Given the description of an element on the screen output the (x, y) to click on. 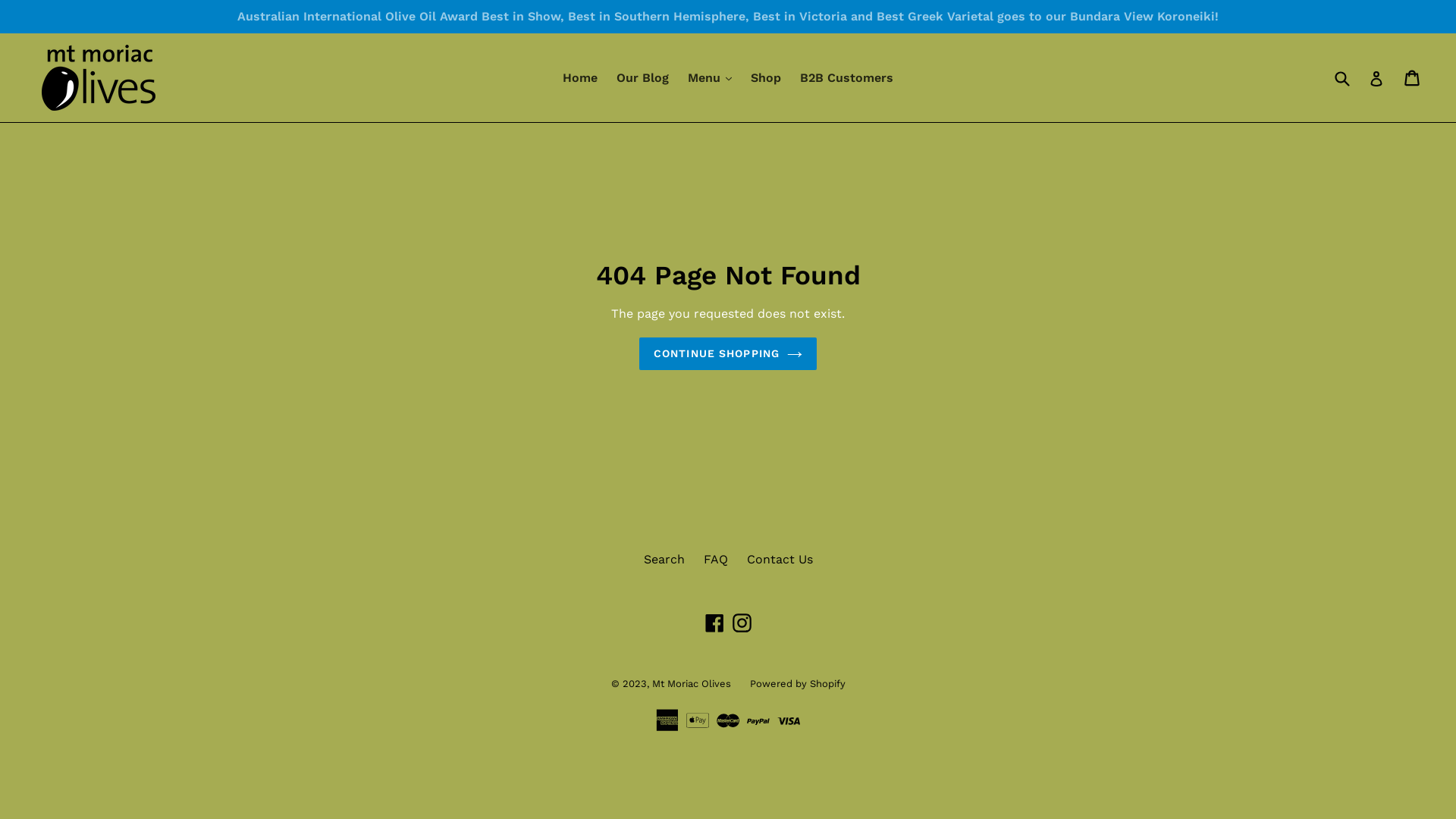
Instagram Element type: text (741, 622)
CONTINUE SHOPPING Element type: text (727, 353)
Mt Moriac Olives Element type: text (691, 683)
Our Blog Element type: text (642, 77)
FAQ Element type: text (715, 559)
Search Element type: text (663, 559)
Contact Us Element type: text (779, 559)
Cart
Cart Element type: text (1412, 77)
Home Element type: text (580, 77)
Facebook Element type: text (713, 622)
Log in Element type: text (1375, 77)
Shop Element type: text (765, 77)
Submit Element type: text (1341, 77)
B2B Customers Element type: text (846, 77)
Powered by Shopify Element type: text (796, 683)
